Given the description of an element on the screen output the (x, y) to click on. 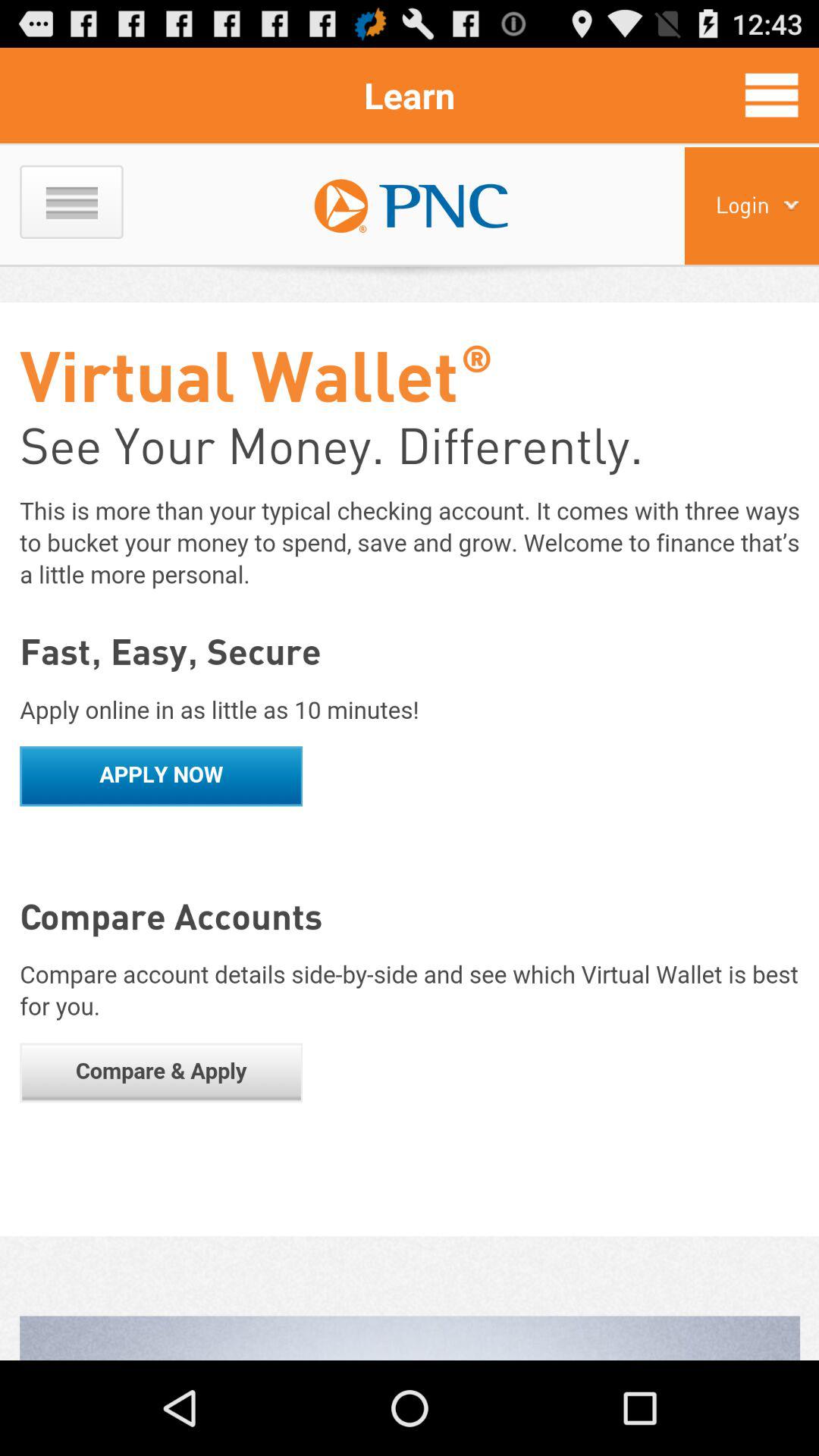
select the button is menu button (771, 95)
